Given the description of an element on the screen output the (x, y) to click on. 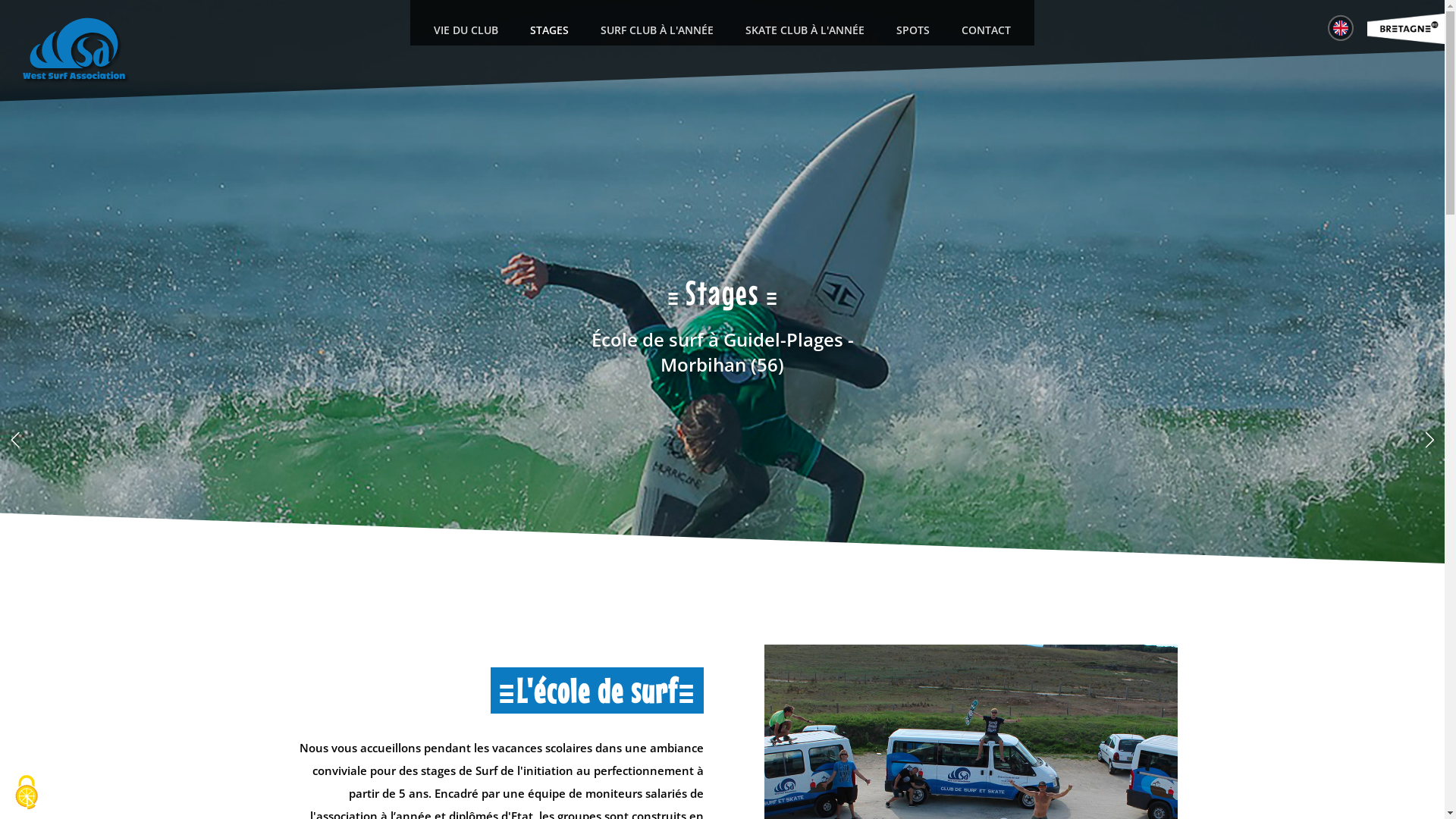
VIE DU CLUB Element type: text (465, 30)
Next Element type: text (1429, 439)
SPOTS Element type: text (912, 30)
Cookies (modal window) Element type: hover (26, 792)
CONTACT Element type: text (985, 30)
Previous Element type: text (15, 439)
